Given the description of an element on the screen output the (x, y) to click on. 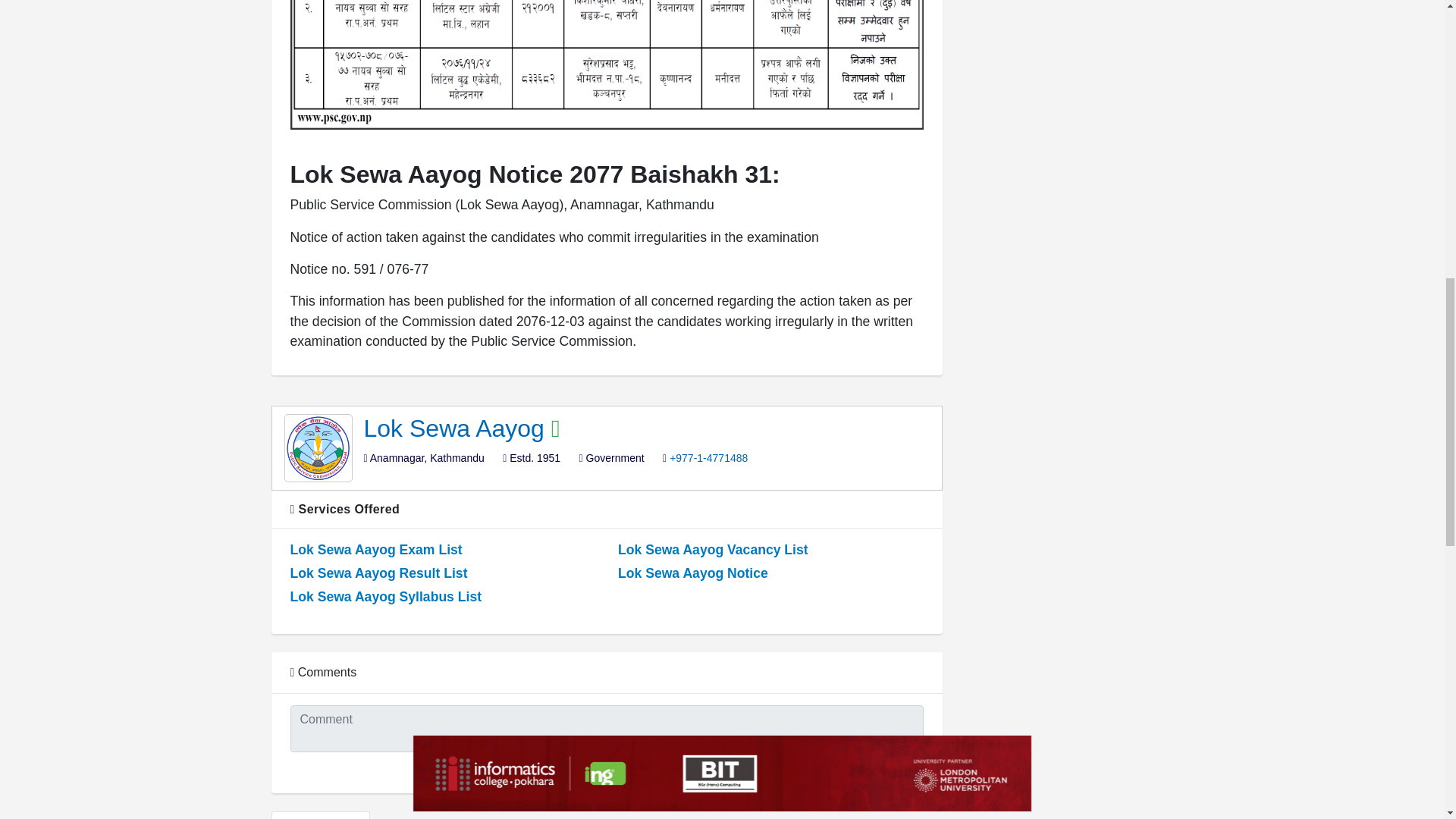
Lok Sewa Aayog Result List (378, 573)
Lok Sewa Aayog Notice 2077 Baishakh 31 (606, 64)
Lok Sewa Aayog Notice (692, 573)
Lok Sewa Aayog Vacancy List (712, 549)
Lok Sewa Aayog Exam List (375, 549)
Lok Sewa Aayog Syllabus List (385, 596)
Lok Sewa Aayog (457, 428)
